Given the description of an element on the screen output the (x, y) to click on. 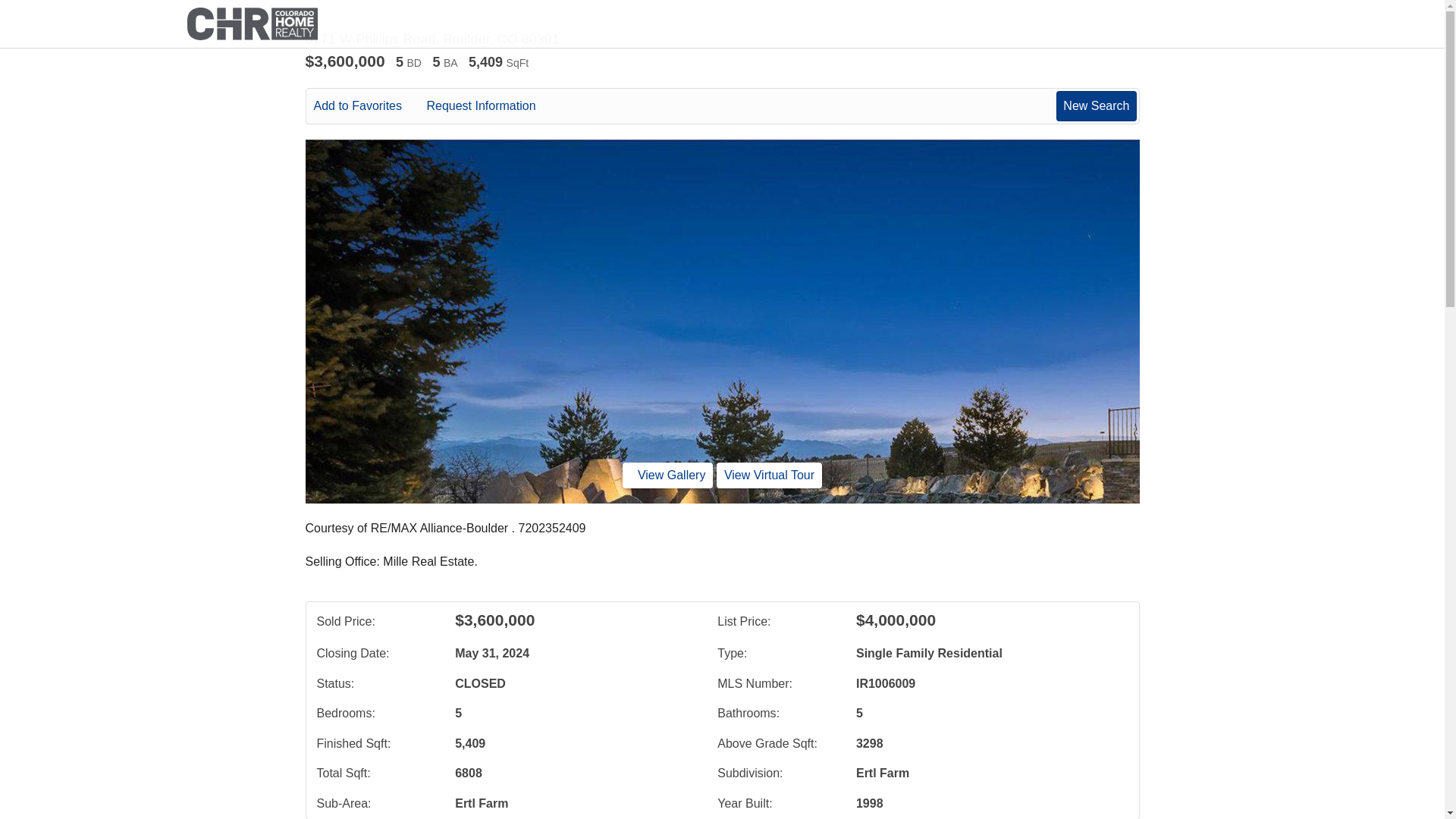
View Virtual Tour (769, 474)
View Virtual Tour (769, 475)
Add to Favorites (368, 106)
Request Information (491, 106)
View Gallery (668, 475)
View Gallery (668, 474)
New Search (1096, 105)
